Given the description of an element on the screen output the (x, y) to click on. 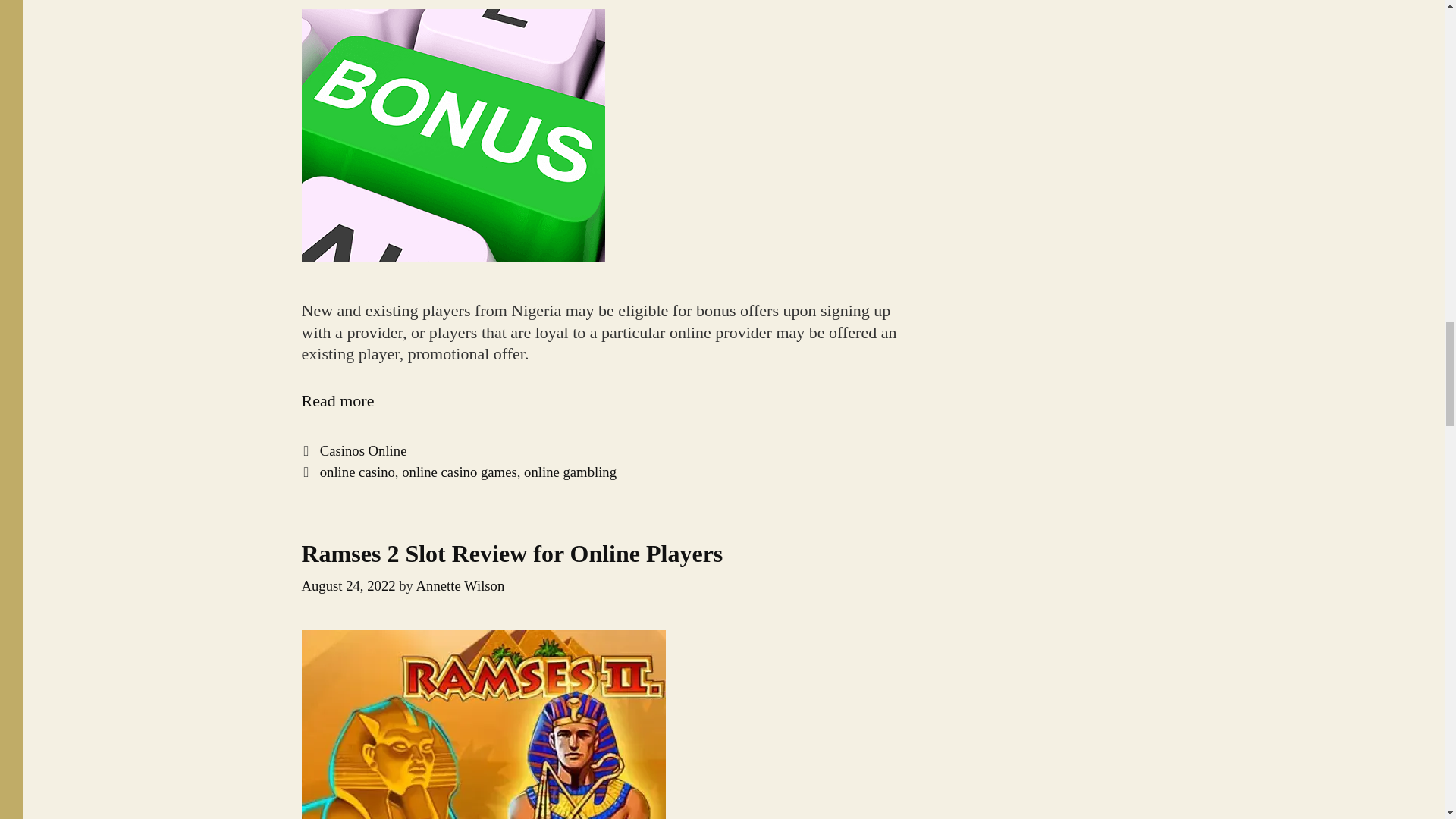
8:05 am (348, 585)
Best Casino Bonuses in Nigeria Online (337, 400)
